Given the description of an element on the screen output the (x, y) to click on. 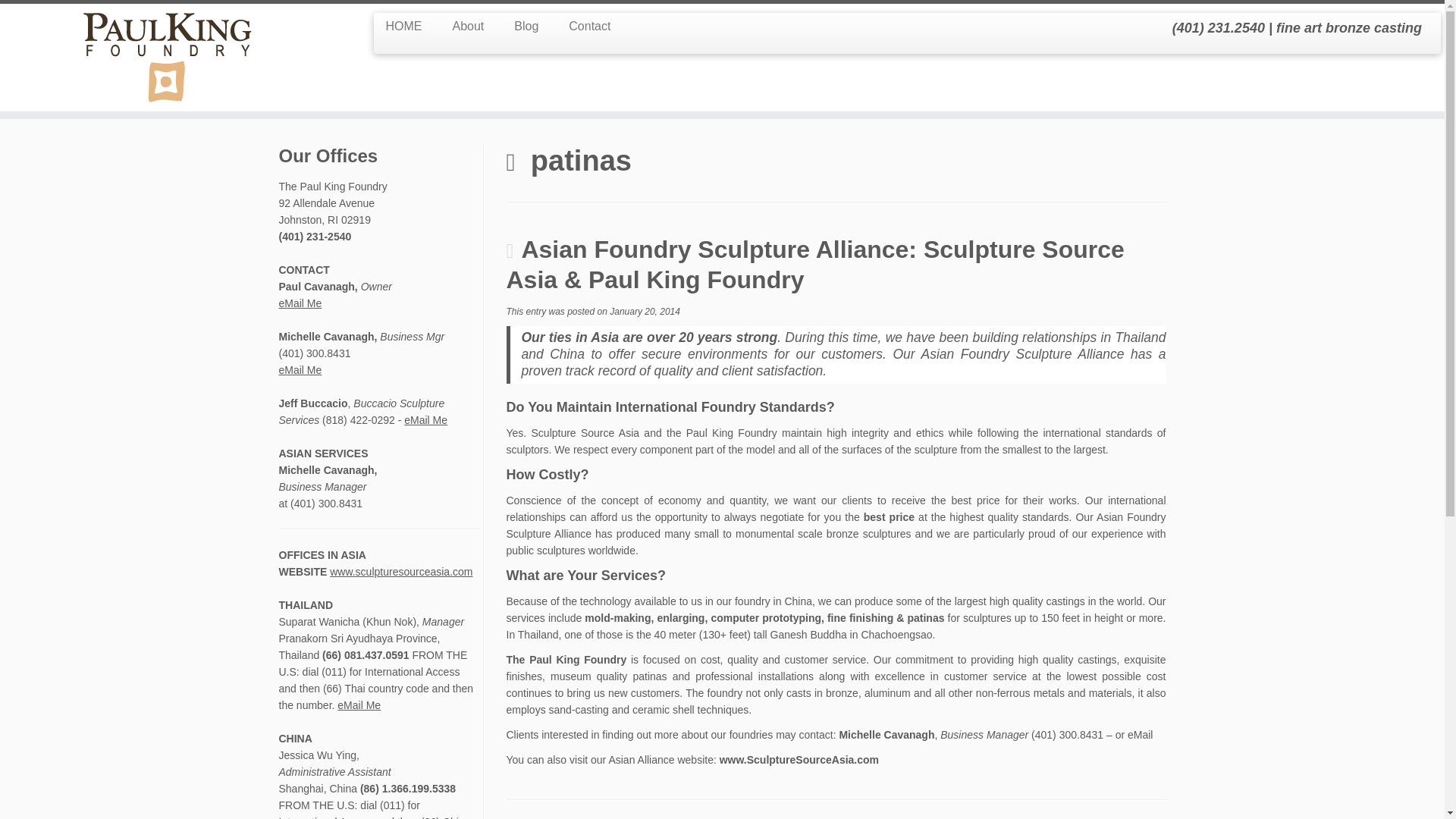
eMail Me (300, 303)
www.sculpturesourceasia.com (400, 571)
Sculpture Source Asia website (799, 759)
HOME (408, 26)
Contact (581, 26)
www.SculptureSourceAsia.com (799, 759)
10:36 pm (644, 311)
eMail Me (300, 369)
About (467, 26)
January 20, 2014 (644, 311)
eMail Me (425, 419)
eMail Me (358, 705)
Blog (526, 26)
or eMail (1134, 734)
